Given the description of an element on the screen output the (x, y) to click on. 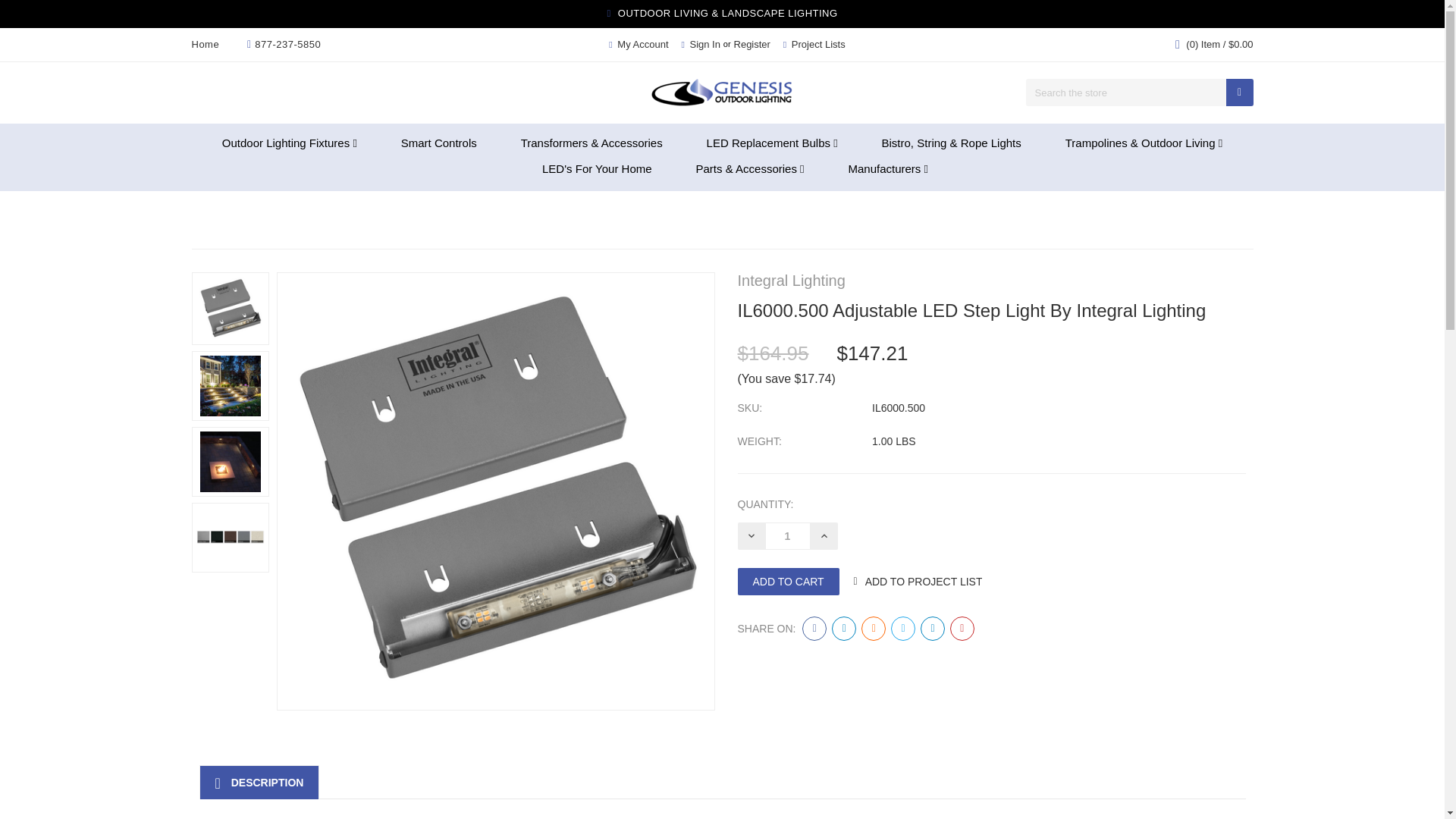
IL6000.500 Adjustable LED Step Light by Integral Lighting (229, 537)
Search (1238, 92)
Search (1238, 92)
Add to Project list (923, 581)
IL6000.500 Adjustable LED Step Light by Integral Lighting (229, 461)
Genesis Outdoor Lighting (721, 92)
Add to Cart (787, 581)
IL6000.500 Adjustable LED Step Light by Integral Lighting (228, 307)
1 (786, 535)
IL6000.500 Adjustable LED Step Light by Integral Lighting (229, 386)
